Given the description of an element on the screen output the (x, y) to click on. 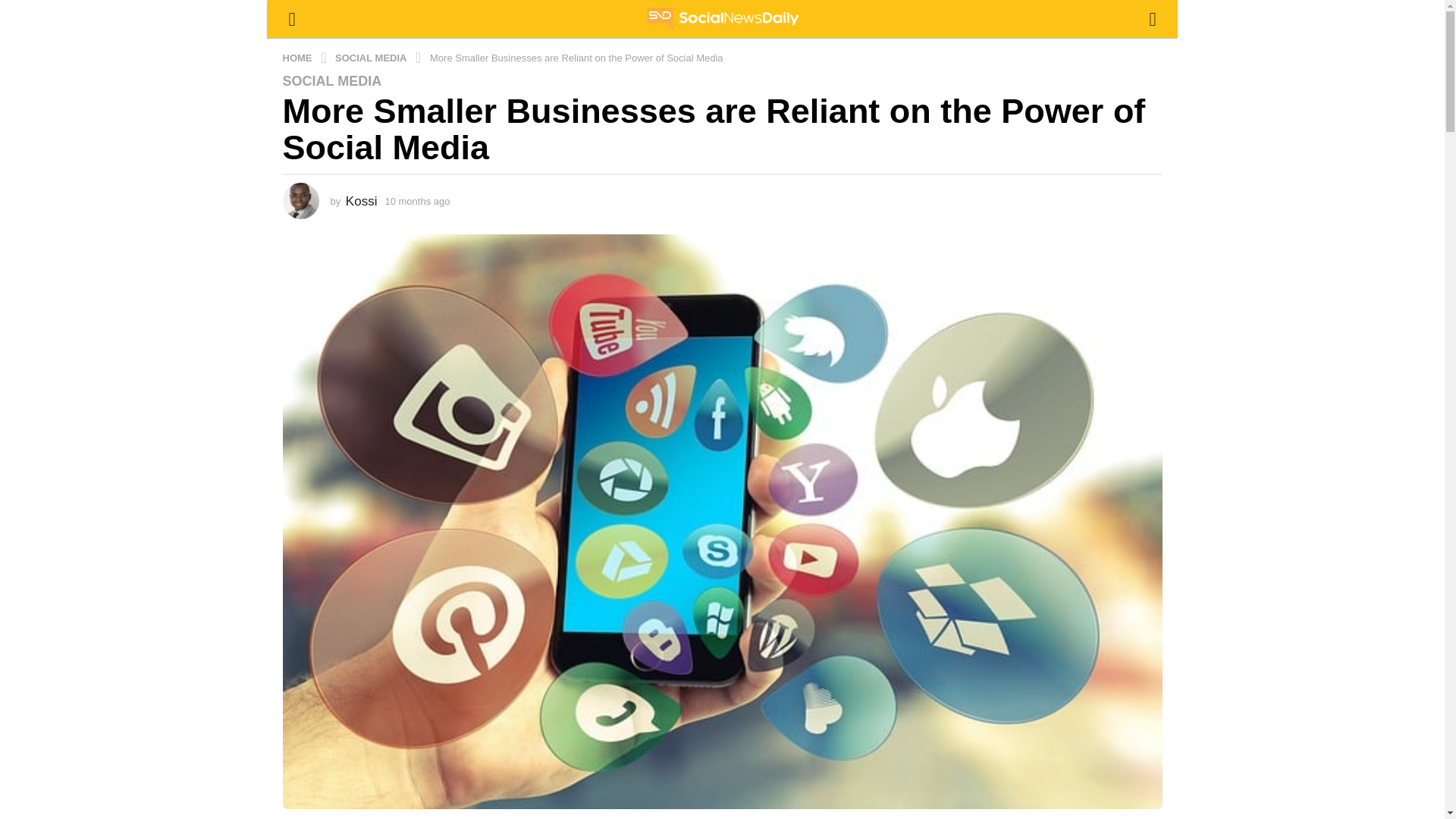
SOCIAL MEDIA (371, 57)
SOCIAL MEDIA (331, 80)
HOME (298, 57)
Kossi (361, 201)
